Given the description of an element on the screen output the (x, y) to click on. 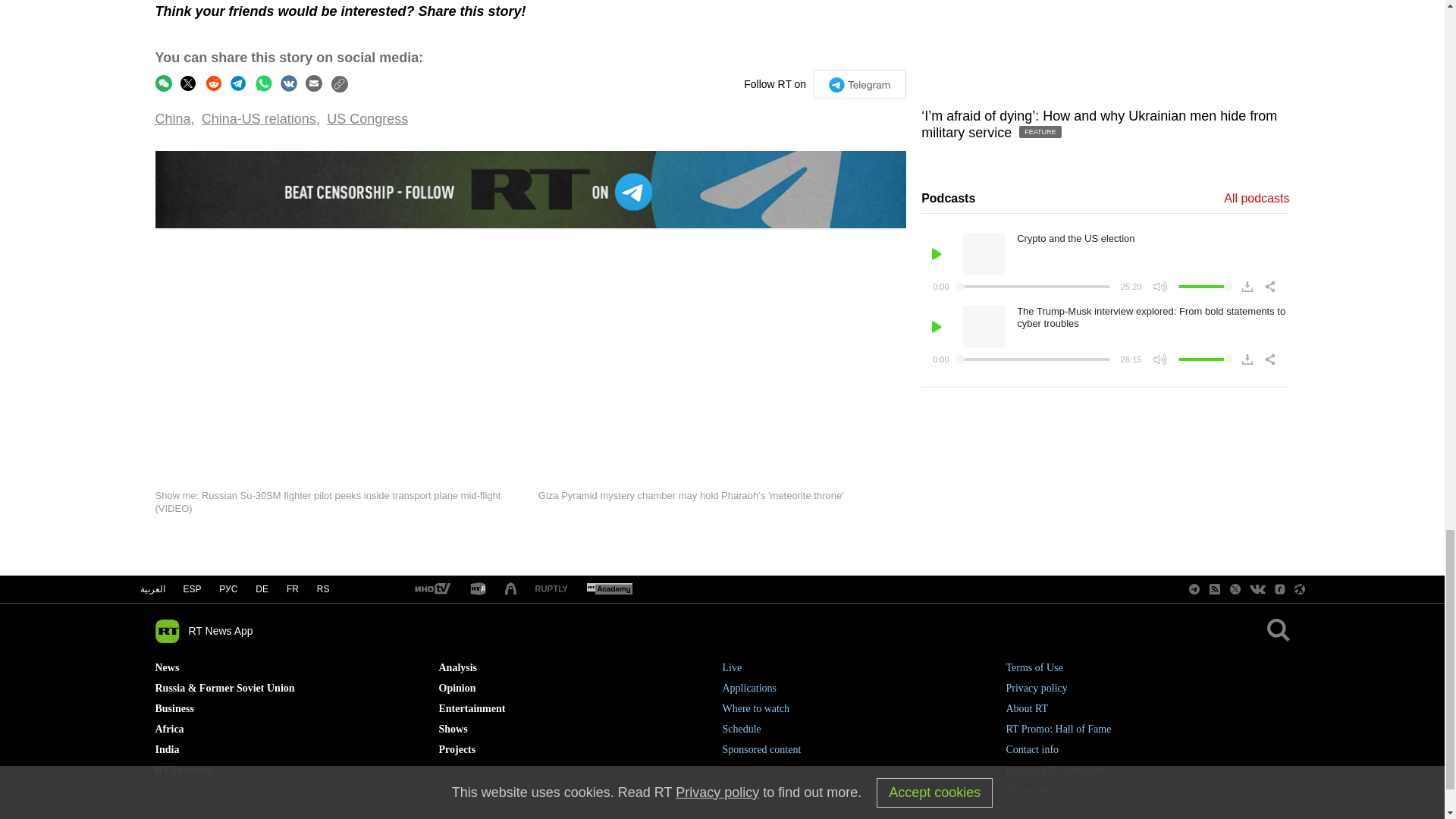
RT  (608, 589)
RT  (551, 589)
RT  (478, 589)
RT  (431, 589)
